Given the description of an element on the screen output the (x, y) to click on. 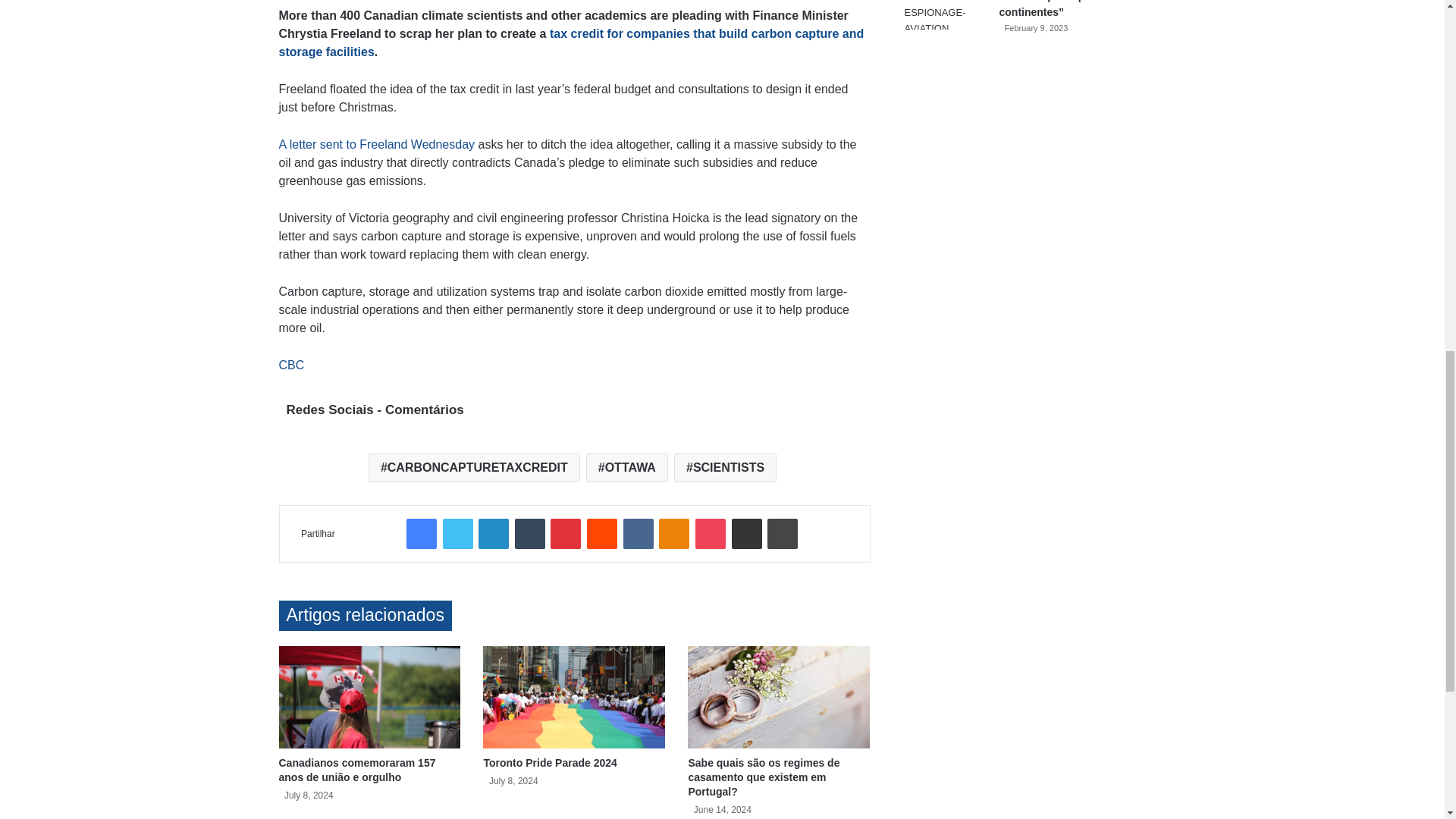
Imprimir (782, 533)
Reddit (601, 533)
Partilha via e-mail (746, 533)
Odnoklassniki (673, 533)
Pocket (710, 533)
LinkedIn (493, 533)
Pinterest (565, 533)
VKontakte (638, 533)
Facebook (421, 533)
Tumblr (529, 533)
